Given the description of an element on the screen output the (x, y) to click on. 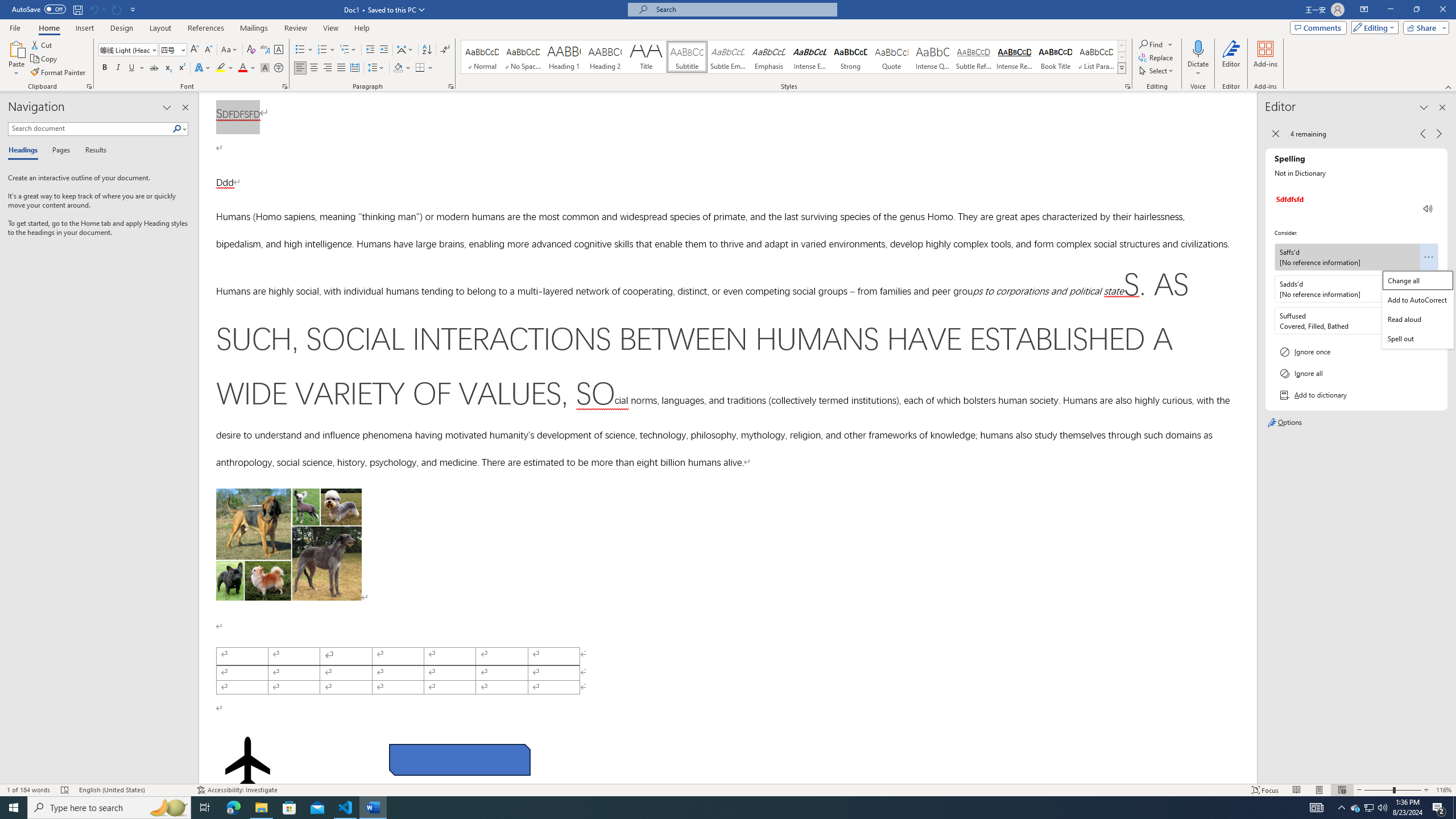
Can't Repeat (117, 9)
Can't Undo (96, 9)
